Given the description of an element on the screen output the (x, y) to click on. 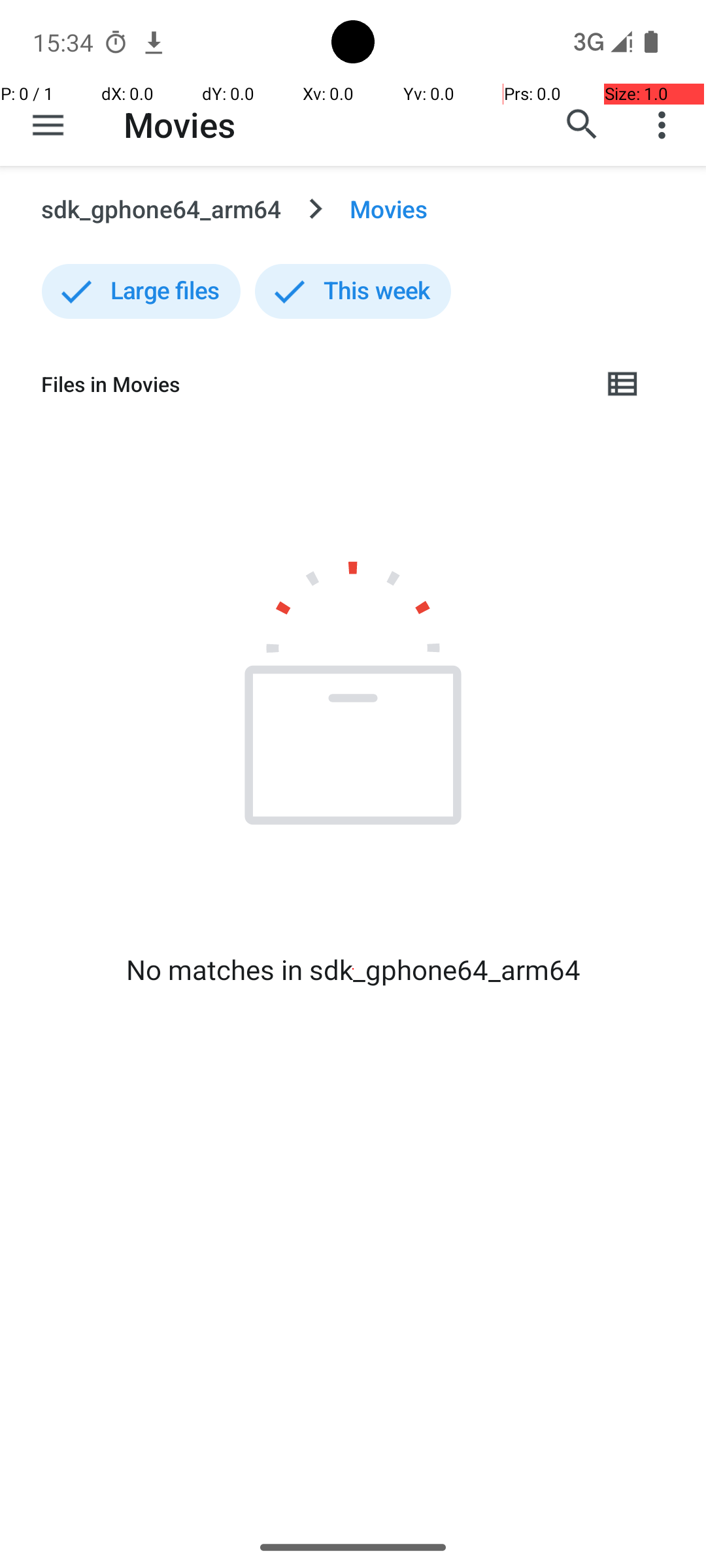
Files in Movies Element type: android.widget.TextView (311, 383)
No matches in sdk_gphone64_arm64 Element type: android.widget.TextView (352, 968)
